Given the description of an element on the screen output the (x, y) to click on. 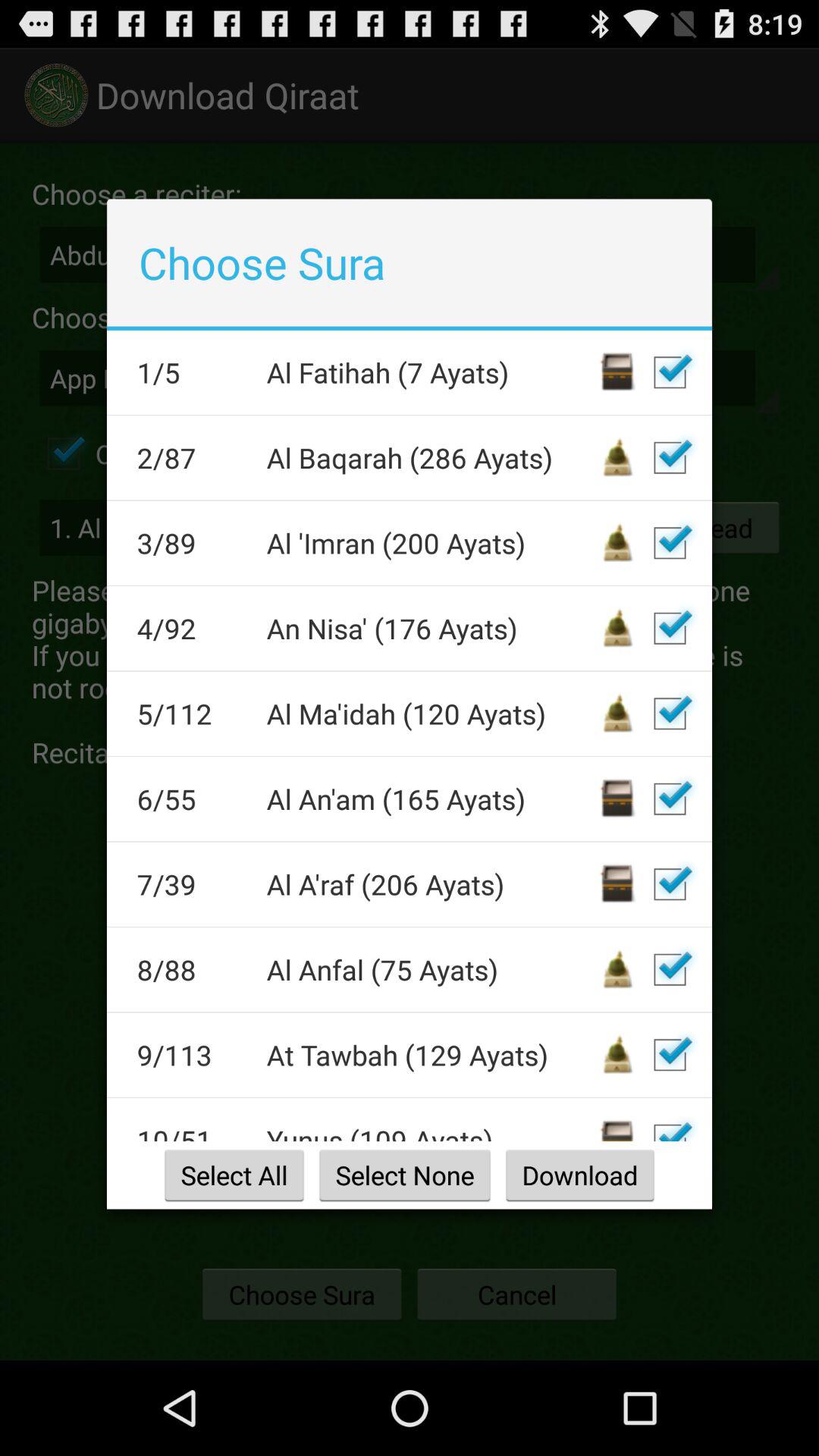
check box for selection sura (669, 1054)
